Given the description of an element on the screen output the (x, y) to click on. 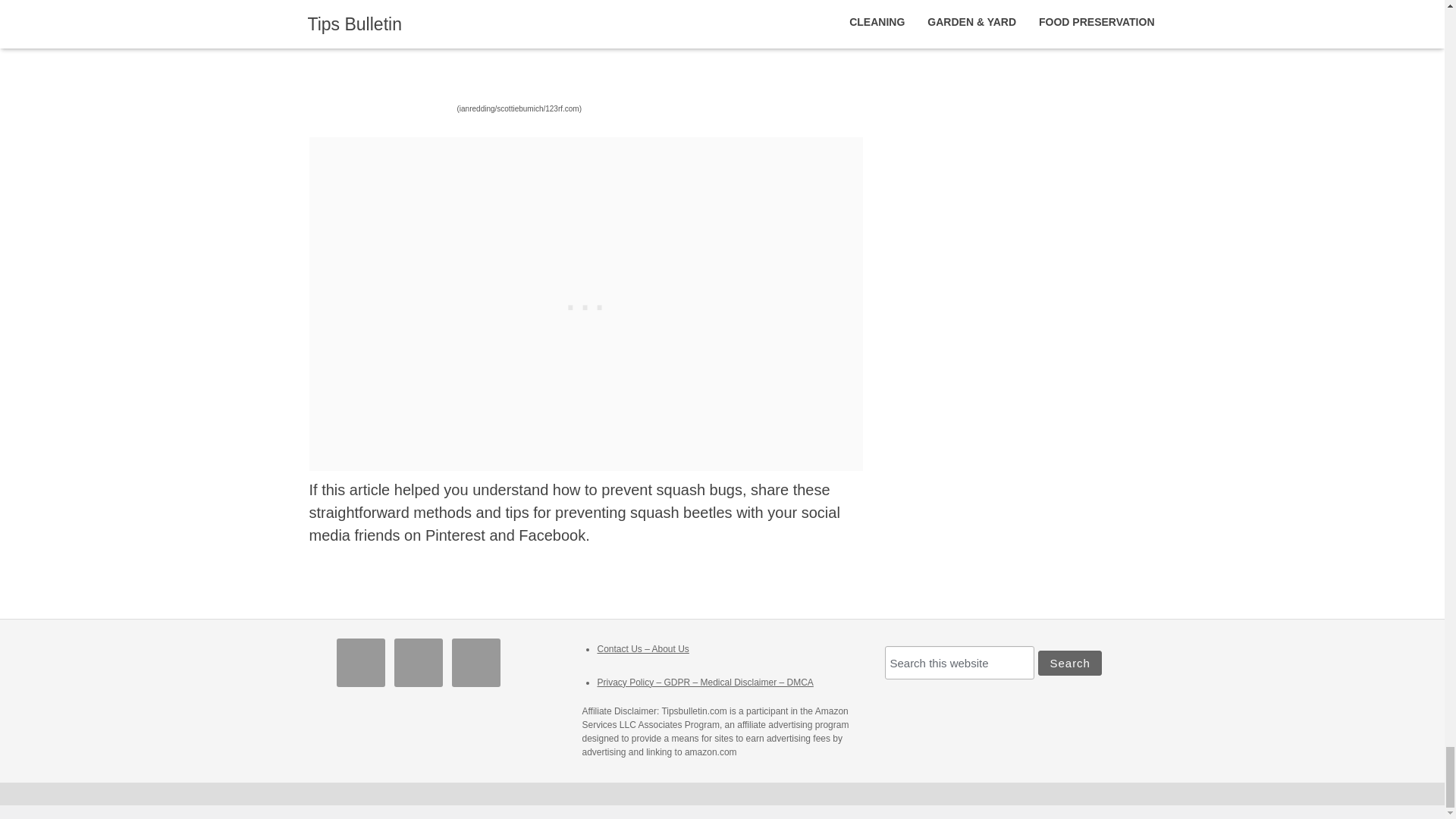
Search (1070, 662)
Search (1070, 662)
